Given the description of an element on the screen output the (x, y) to click on. 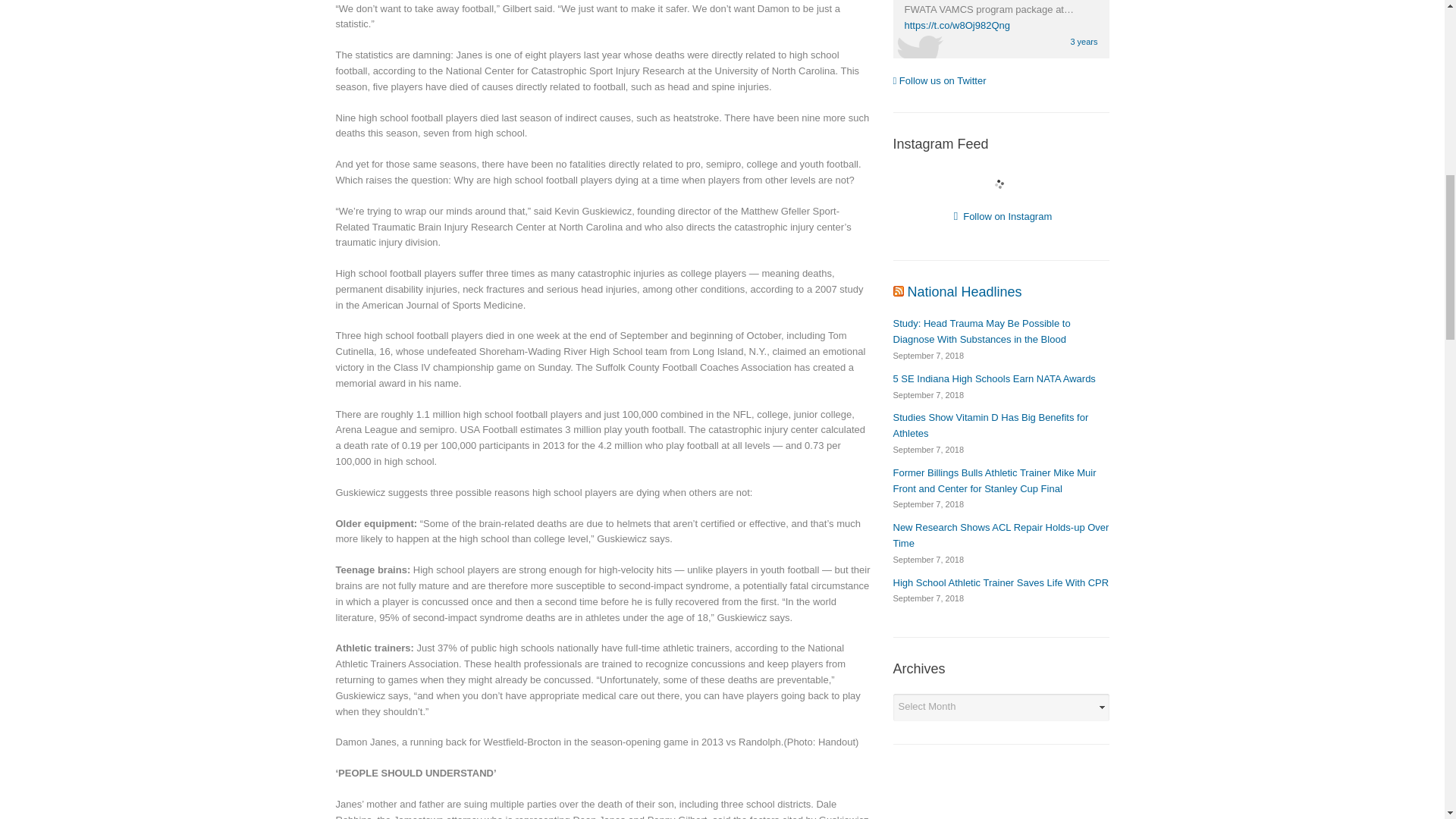
Follow us on Twitter (940, 80)
